Given the description of an element on the screen output the (x, y) to click on. 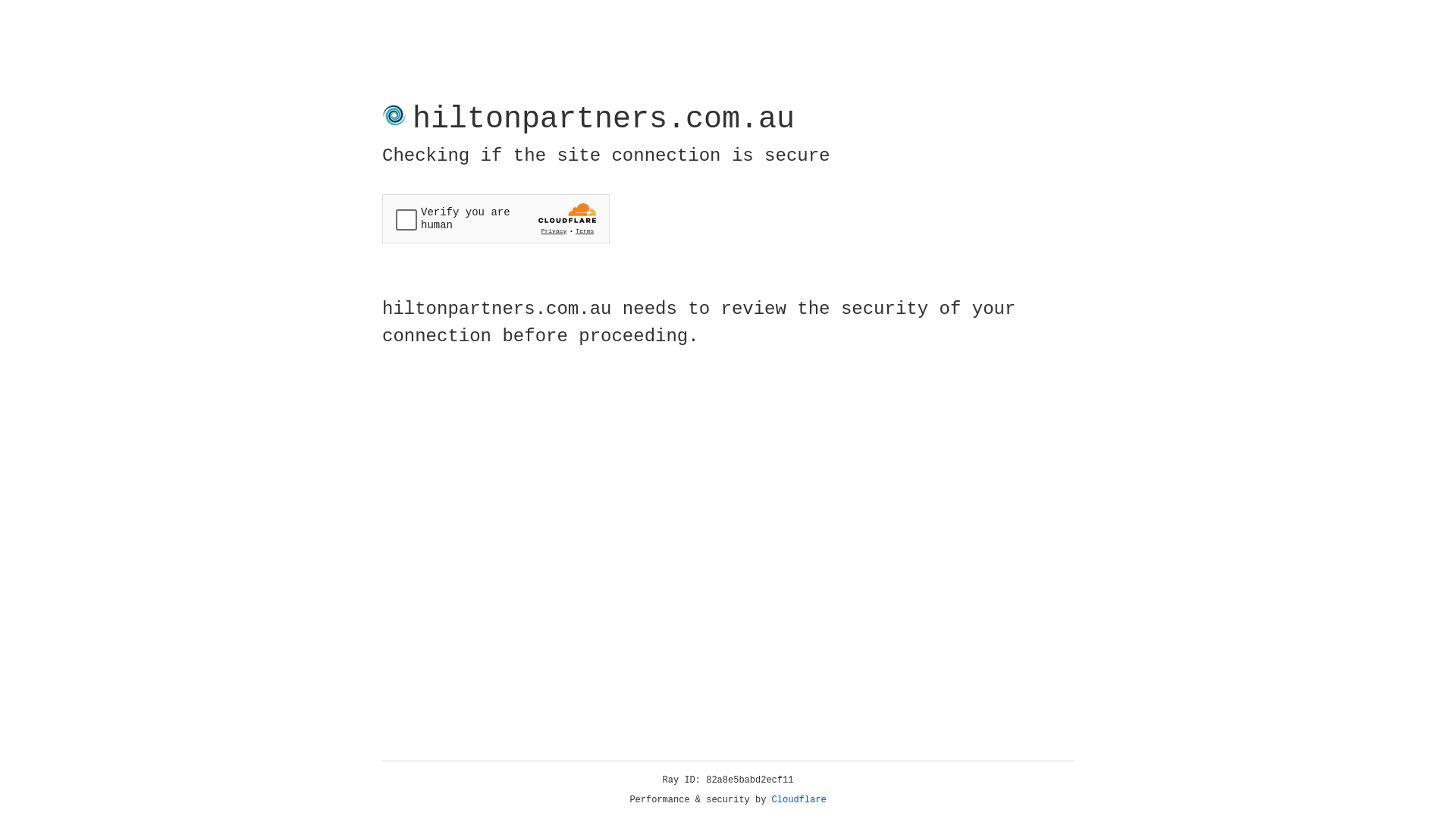
Cloudflare Element type: text (798, 799)
Widget containing a Cloudflare security challenge Element type: hover (495, 218)
